Given the description of an element on the screen output the (x, y) to click on. 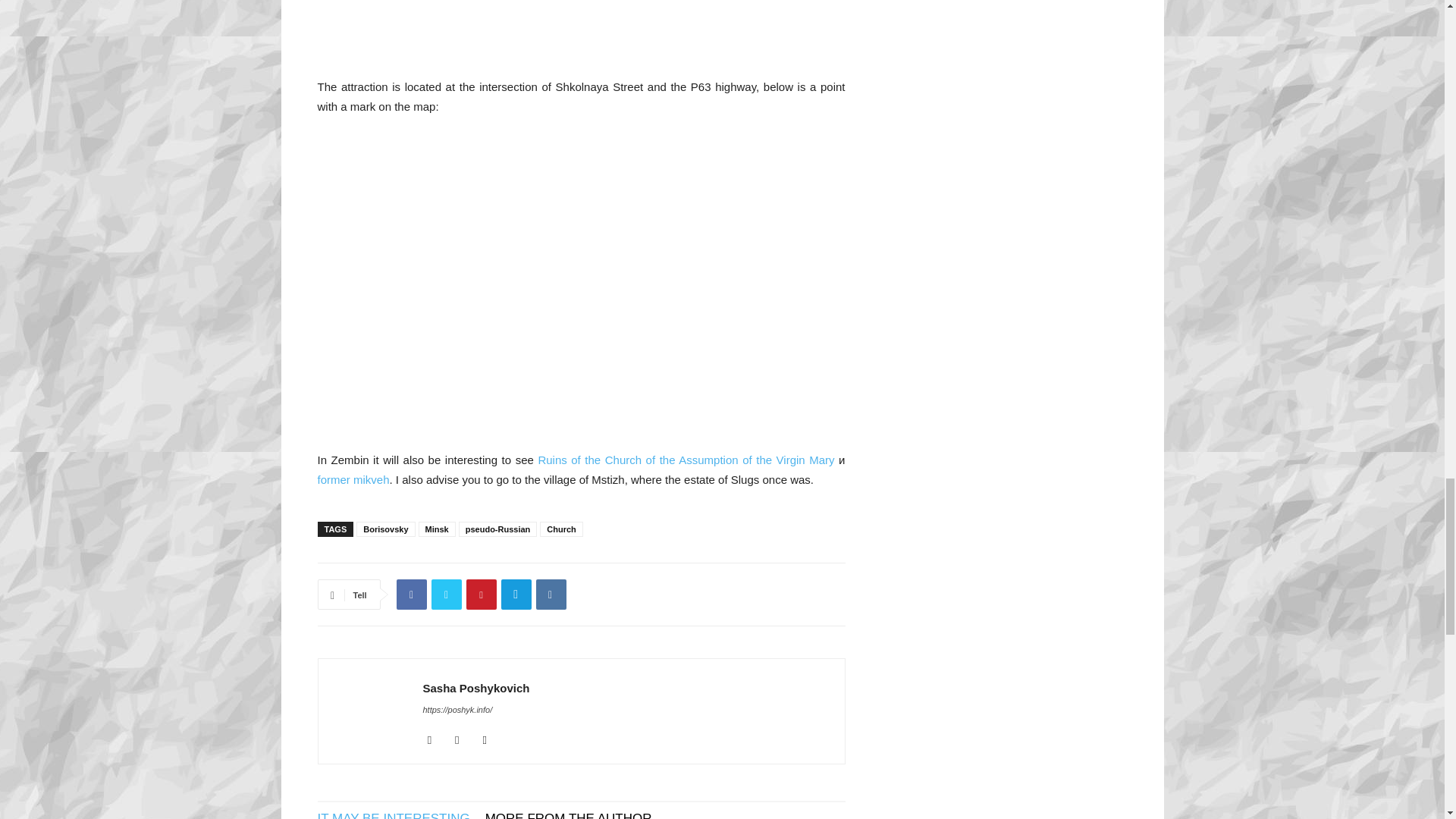
Ruins of the Church of the Assumption of the Virgin Mary (685, 459)
Borisovsky (385, 529)
former mikveh (352, 479)
